Given the description of an element on the screen output the (x, y) to click on. 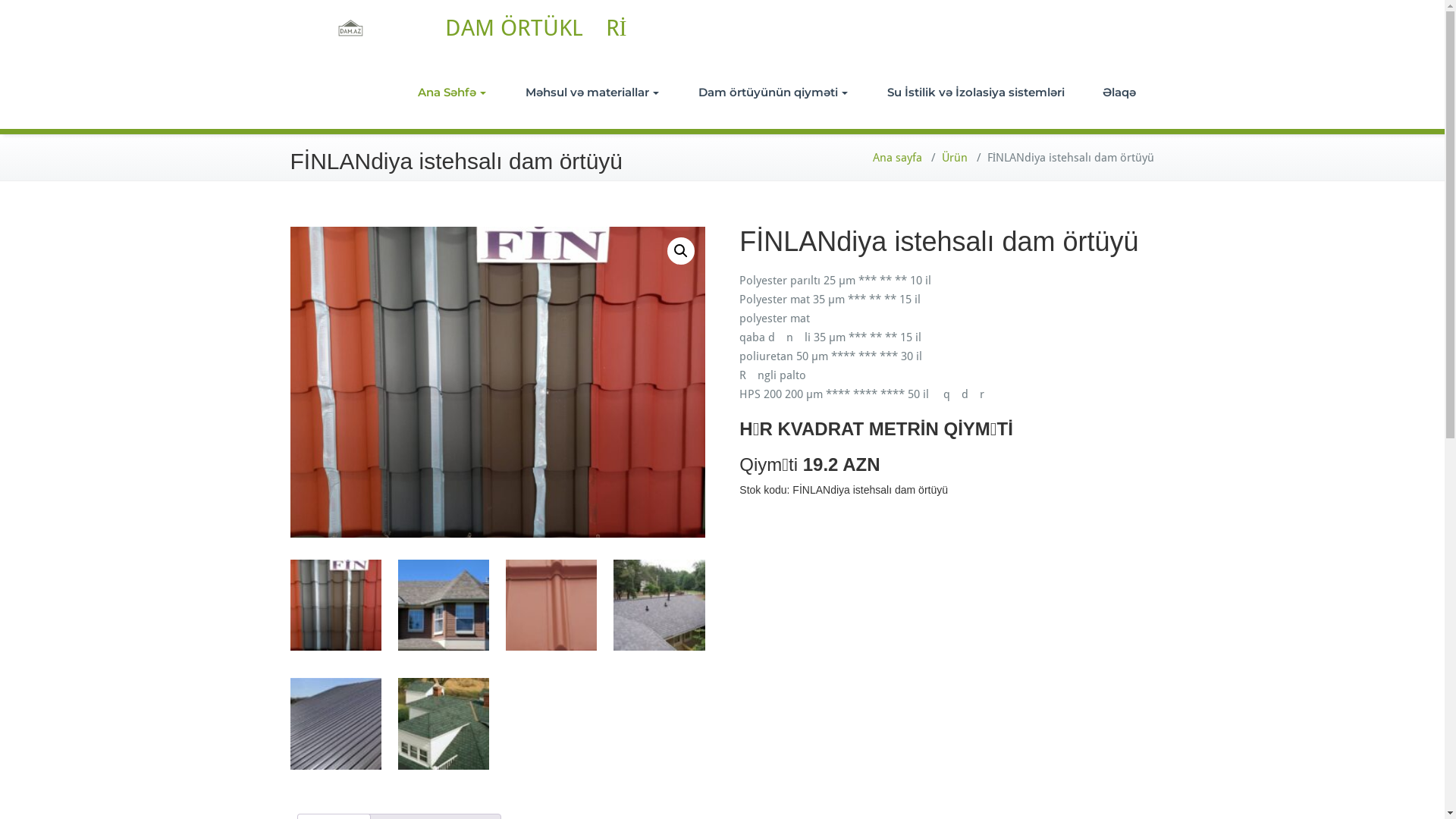
76d9f3b9-2a1b-4cf8-8108-2bcc57c4938d Element type: hover (496, 381)
Ana sayfa Element type: text (896, 157)
